Given the description of an element on the screen output the (x, y) to click on. 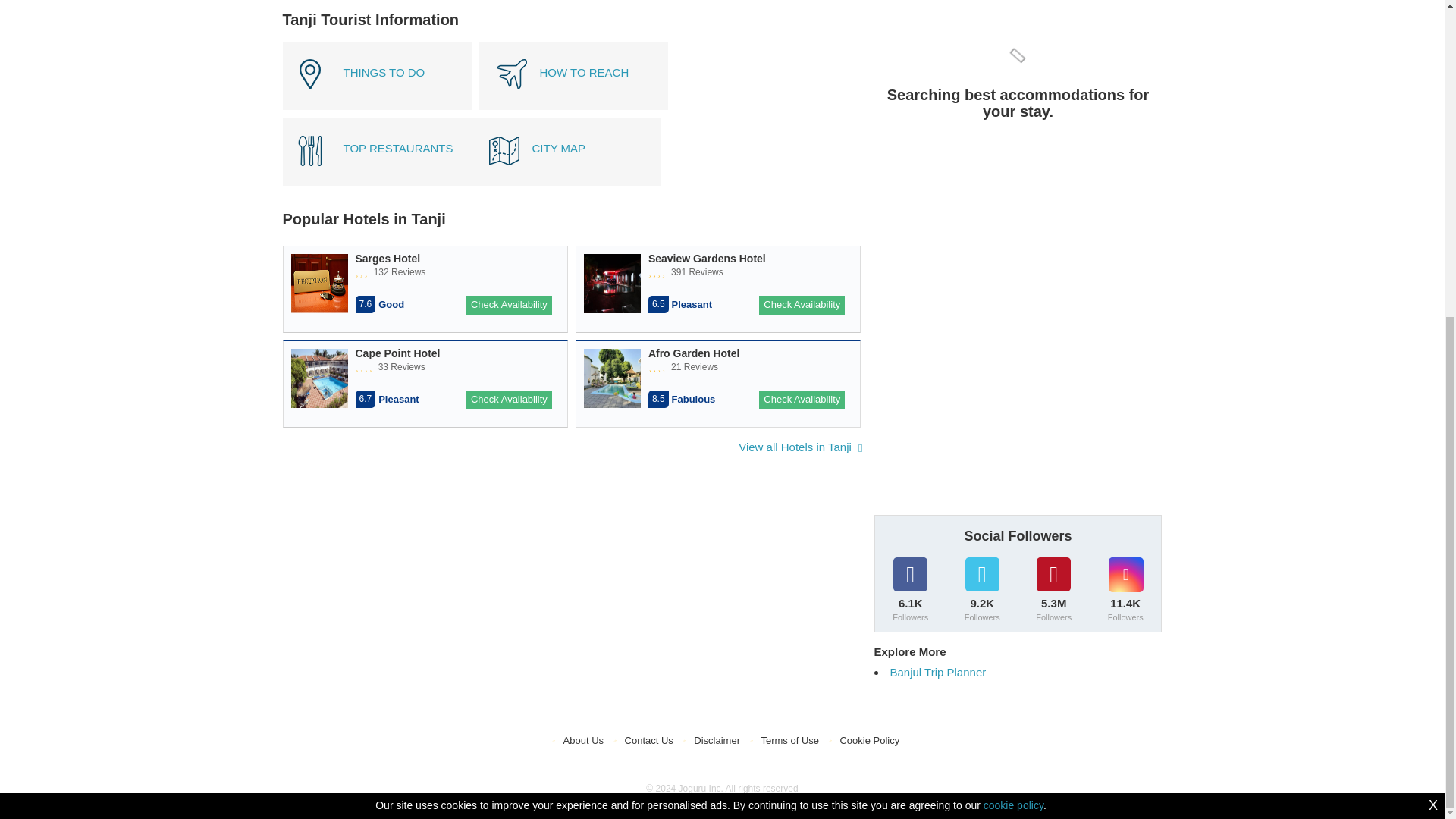
HOW TO REACH (573, 75)
Things To Do in Tanji (376, 75)
Top Restaurants In Tanji (376, 151)
THINGS TO DO (376, 75)
Parking (400, 284)
City Map of Tanji (566, 151)
Check Availability (508, 399)
Restaurant (379, 284)
cookie policy (1013, 295)
Pool (420, 284)
